Given the description of an element on the screen output the (x, y) to click on. 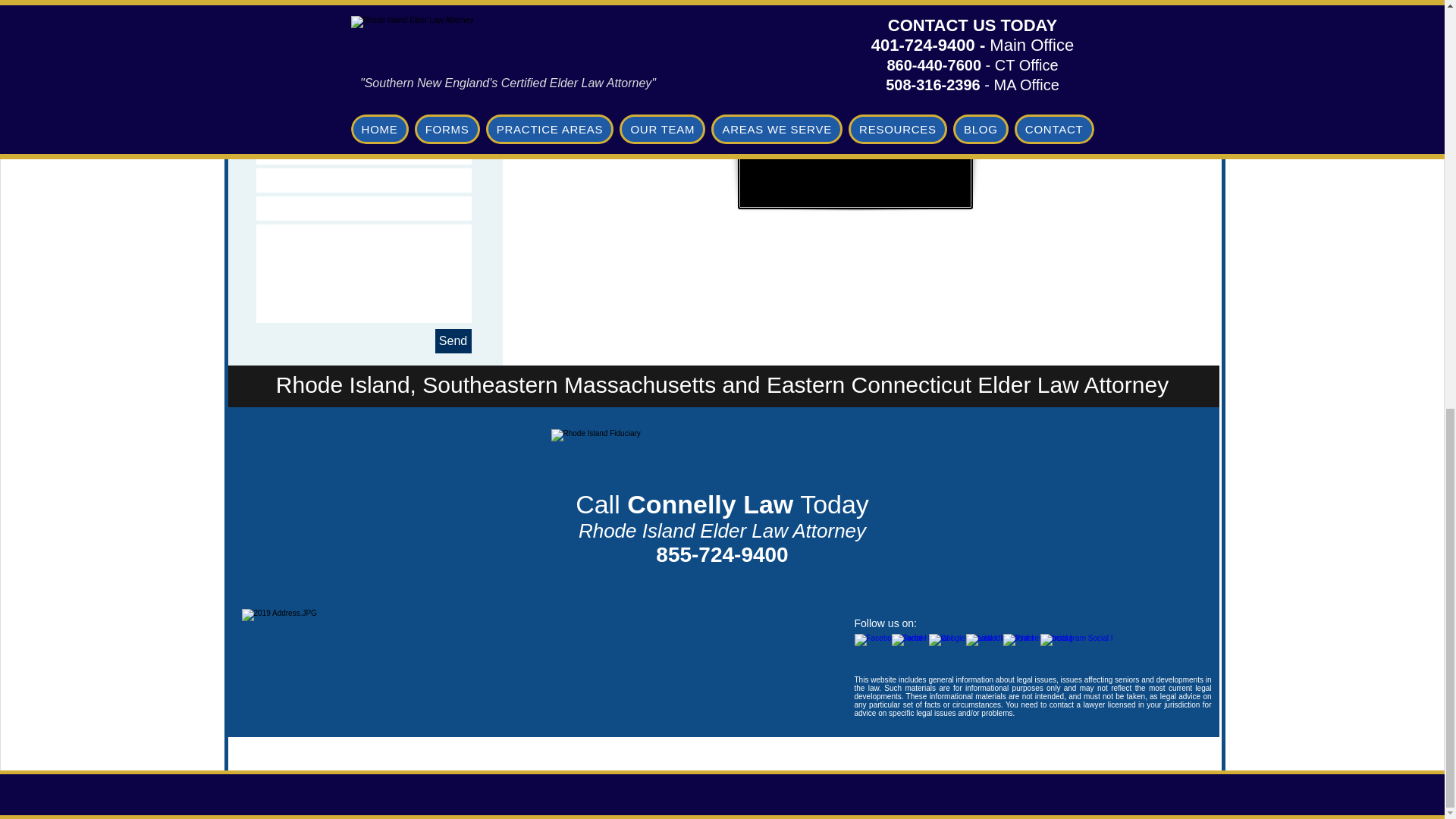
Send (453, 340)
Rhode Island Elder Law Attorney (721, 456)
